Given the description of an element on the screen output the (x, y) to click on. 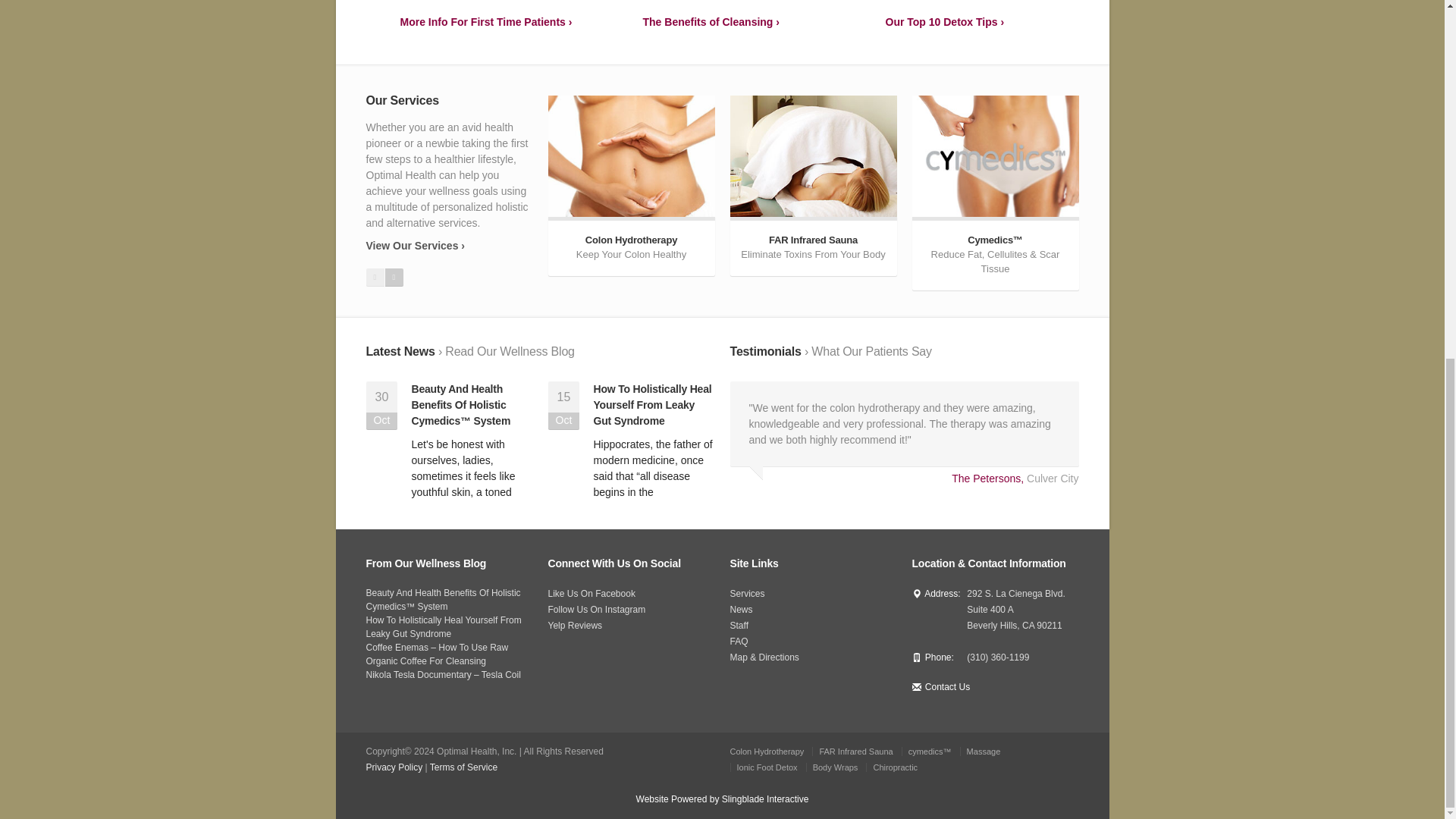
Follow Us On Instagram (596, 609)
Yelp Reviews (574, 624)
How To Holistically Heal Yourself From Leaky Gut Syndrome (651, 404)
Like Us On Facebook (590, 593)
Colonic Colon Hydrotherapy (630, 185)
FAR Infrared Sauna (766, 750)
How To Holistically Heal Yourself From Leaky Gut Syndrome (812, 185)
